Given the description of an element on the screen output the (x, y) to click on. 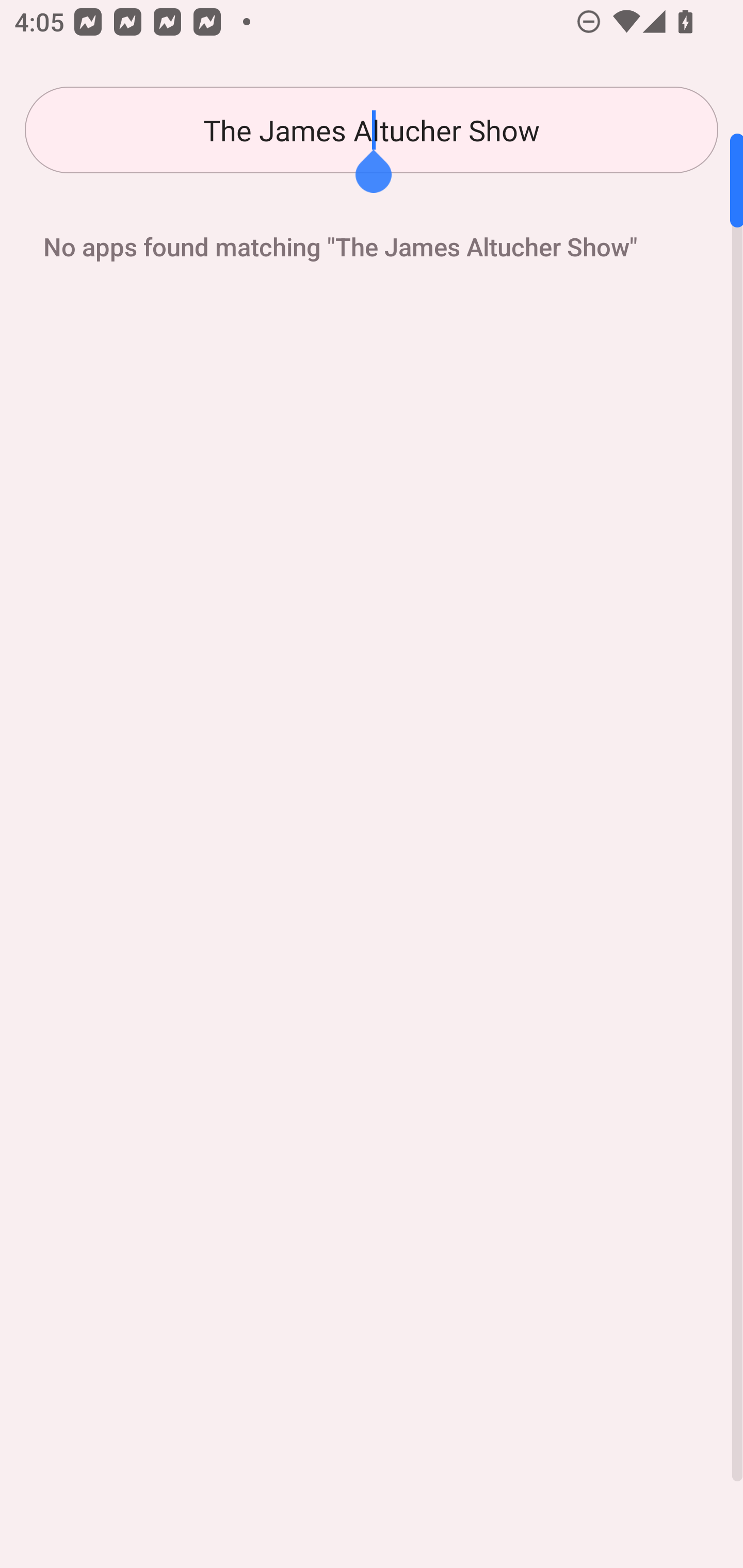
The James Altucher Show (371, 130)
